Given the description of an element on the screen output the (x, y) to click on. 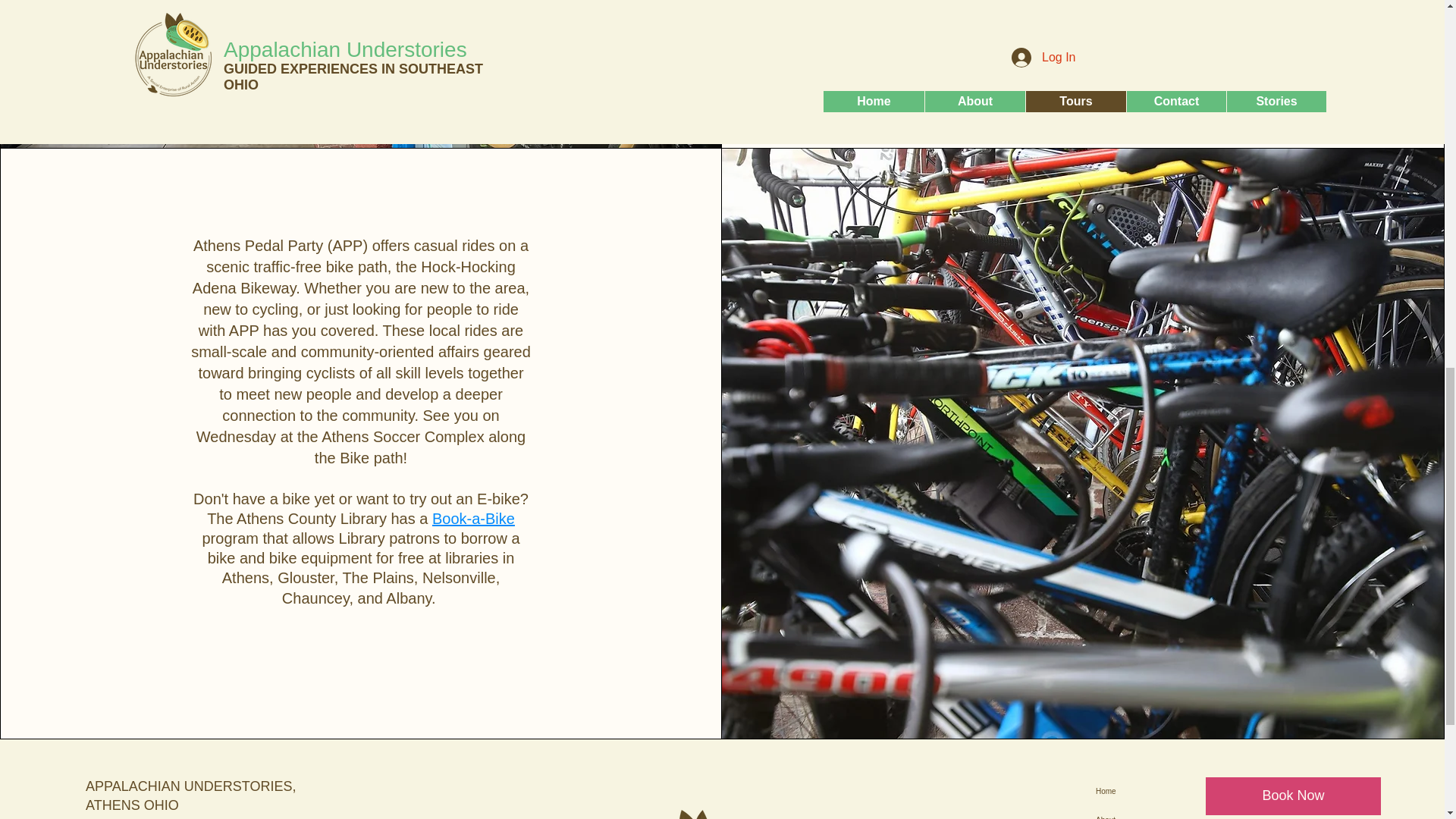
About (1179, 812)
Book Now (1292, 795)
OHIO (161, 805)
APPALACHIAN UNDERSTORIES, (190, 785)
Book-a-Bike (473, 518)
ATHENS (112, 805)
Home (1179, 791)
